Given the description of an element on the screen output the (x, y) to click on. 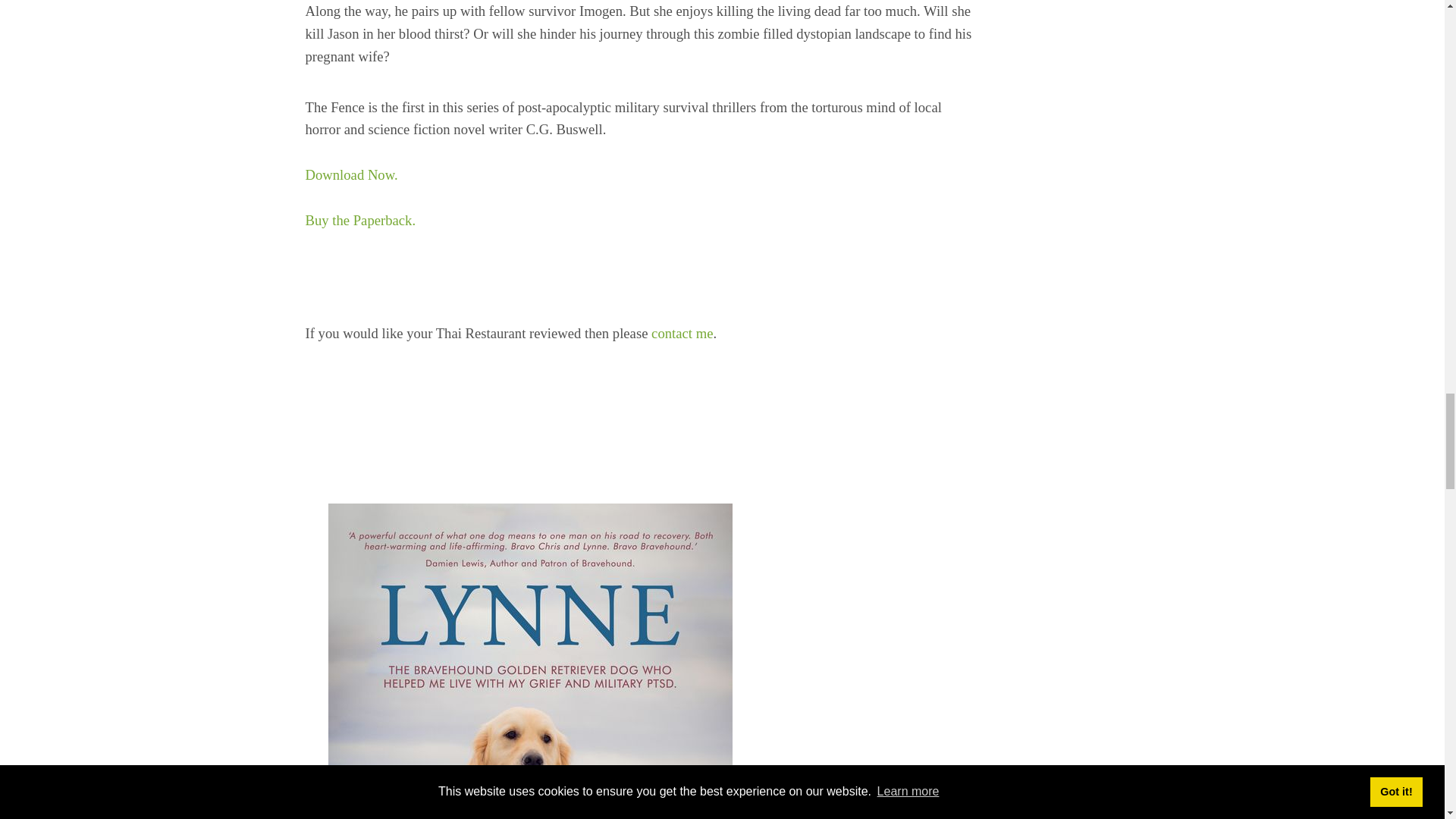
Buy the Paperback. (359, 220)
Download Now. (350, 174)
contact me (681, 333)
